Given the description of an element on the screen output the (x, y) to click on. 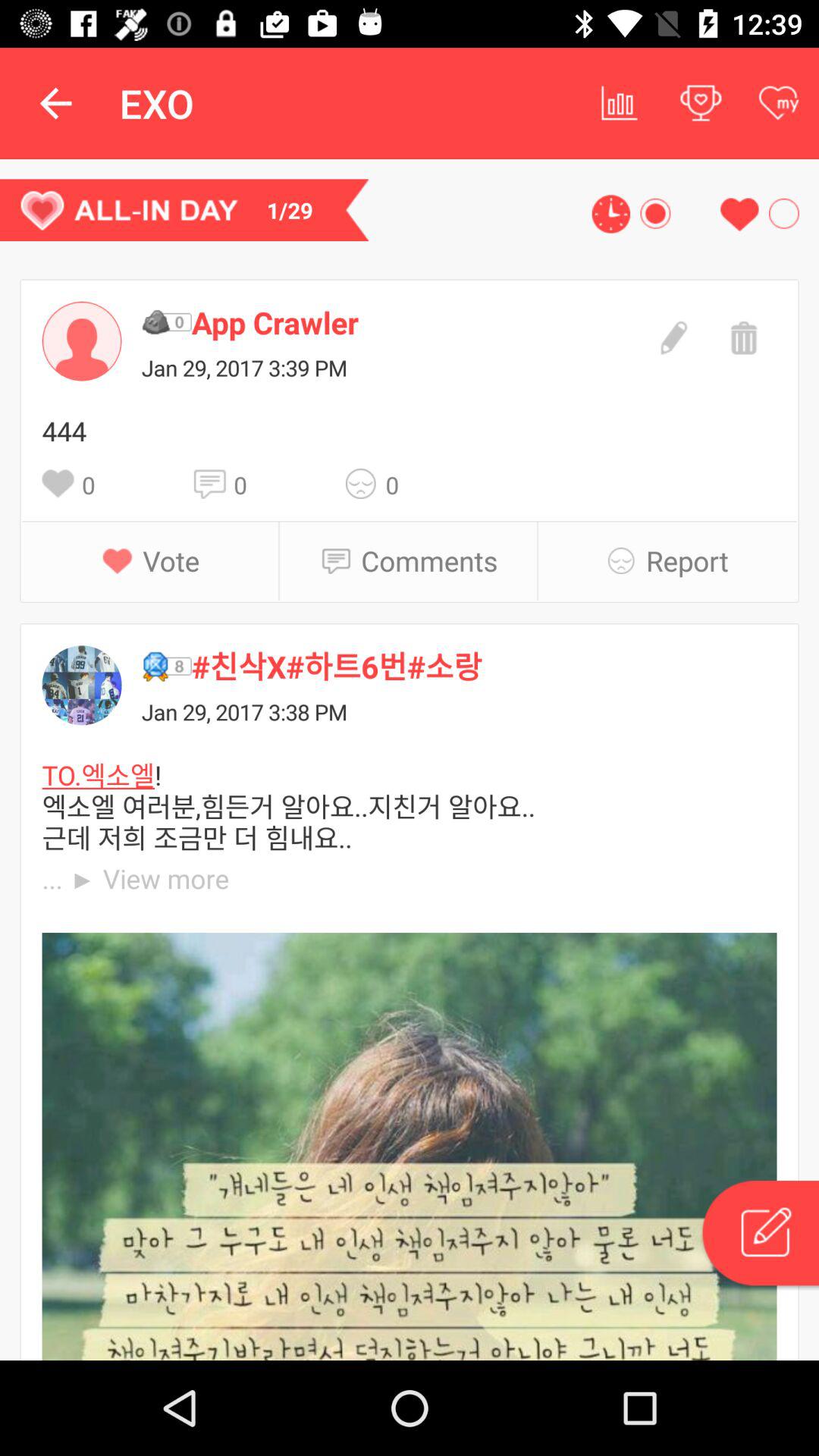
tap item above jan 29 2017 icon (414, 321)
